Given the description of an element on the screen output the (x, y) to click on. 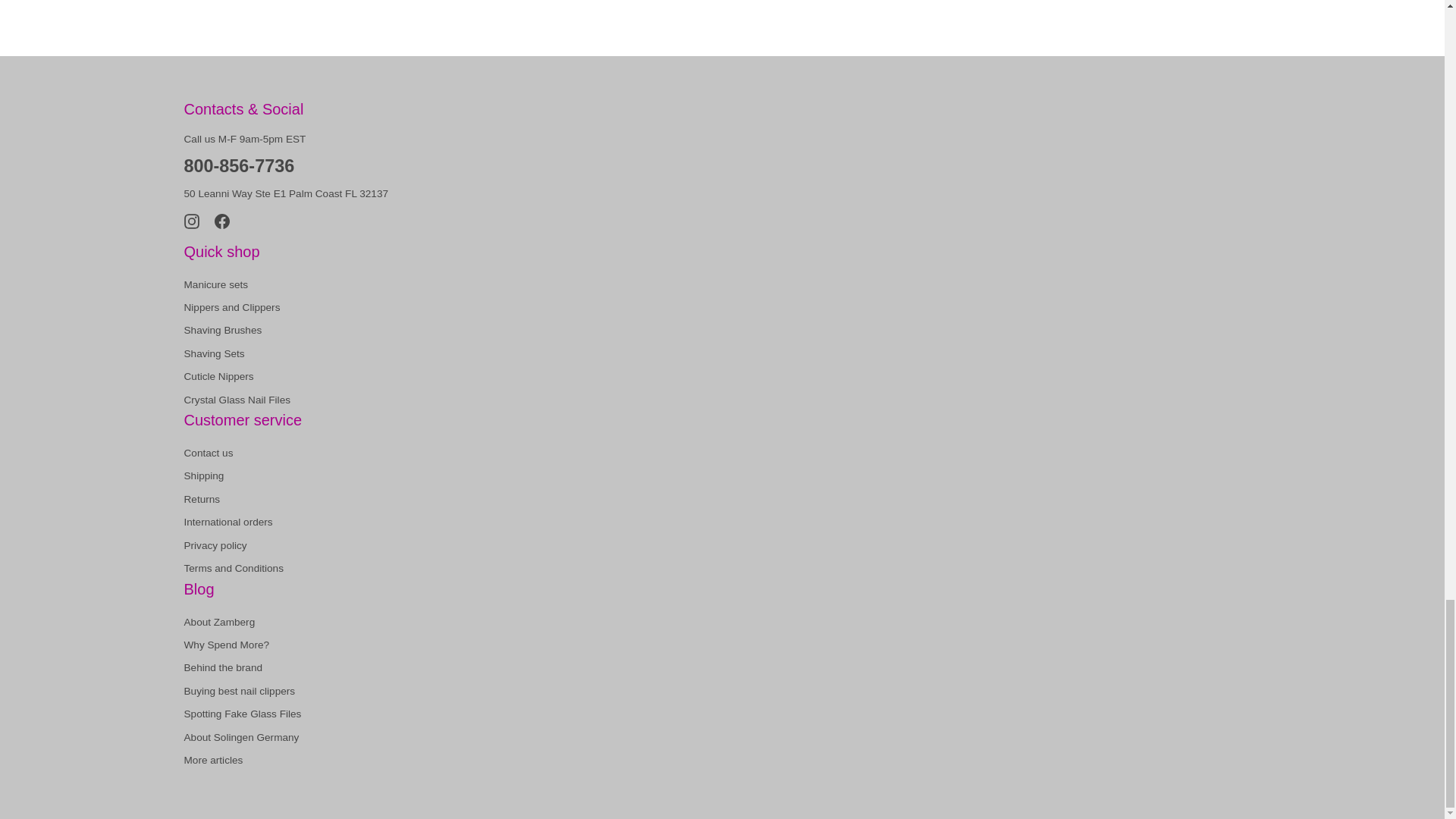
Zamberg Com on Instagram (190, 219)
instagram (190, 221)
Zamberg Com on Facebook (221, 219)
